Given the description of an element on the screen output the (x, y) to click on. 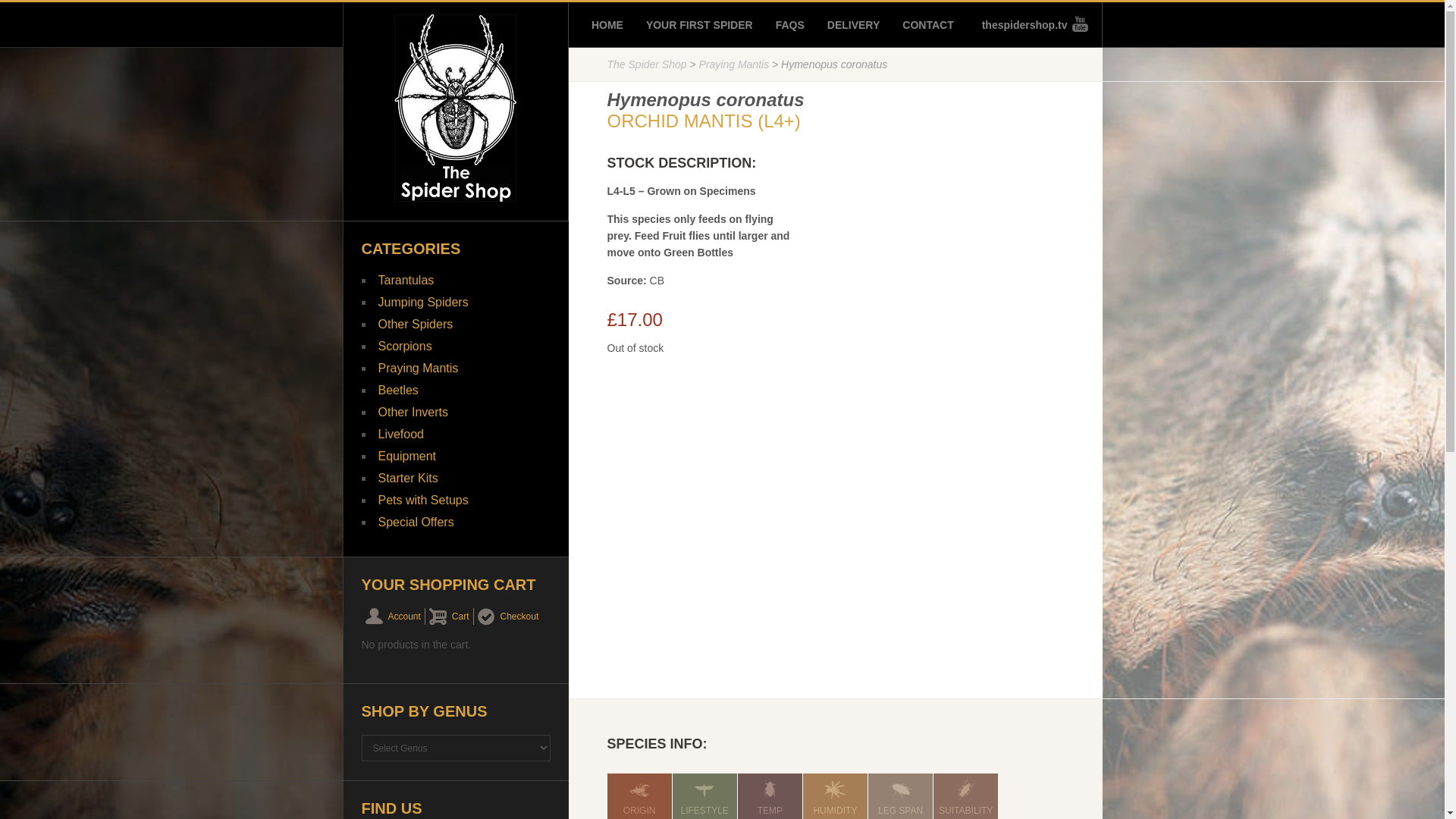
thespidershop.tv (1030, 24)
Other Spiders (414, 323)
HOME (606, 24)
CONTACT (927, 24)
My Account (392, 616)
Praying Mantis (734, 64)
YOUR FIRST SPIDER (699, 24)
Jumping Spiders (422, 301)
The Spider Shop (646, 64)
FAQS (790, 24)
Scorpions (403, 345)
Tarantulas (405, 279)
Praying Mantis (417, 367)
DELIVERY (853, 24)
Beetles (397, 390)
